Given the description of an element on the screen output the (x, y) to click on. 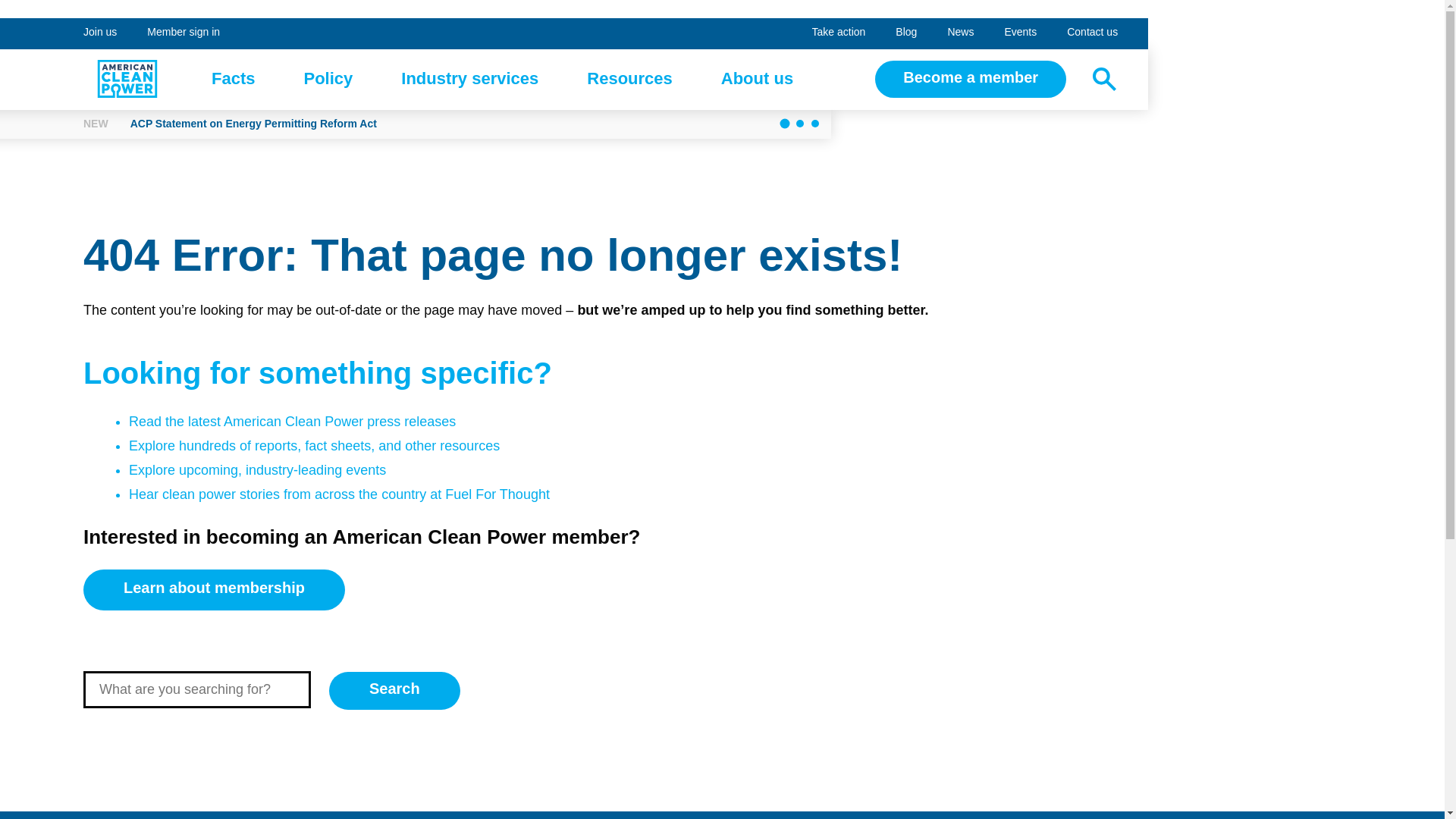
Events (1019, 33)
News (959, 33)
Join us (233, 78)
Take action (100, 33)
Member sign in (838, 33)
ACP (183, 33)
Resources (127, 78)
Contact us (629, 78)
Blog (1091, 33)
Policy (469, 78)
